Given the description of an element on the screen output the (x, y) to click on. 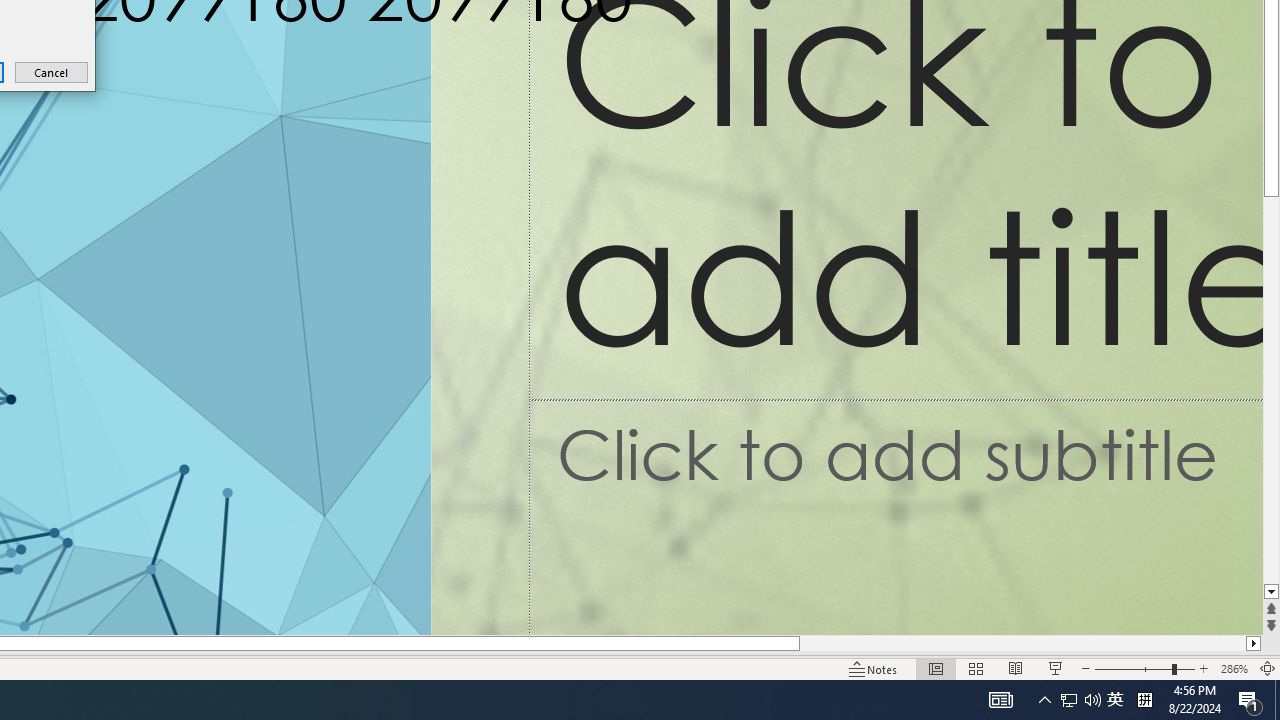
Zoom 286% (1234, 668)
